Given the description of an element on the screen output the (x, y) to click on. 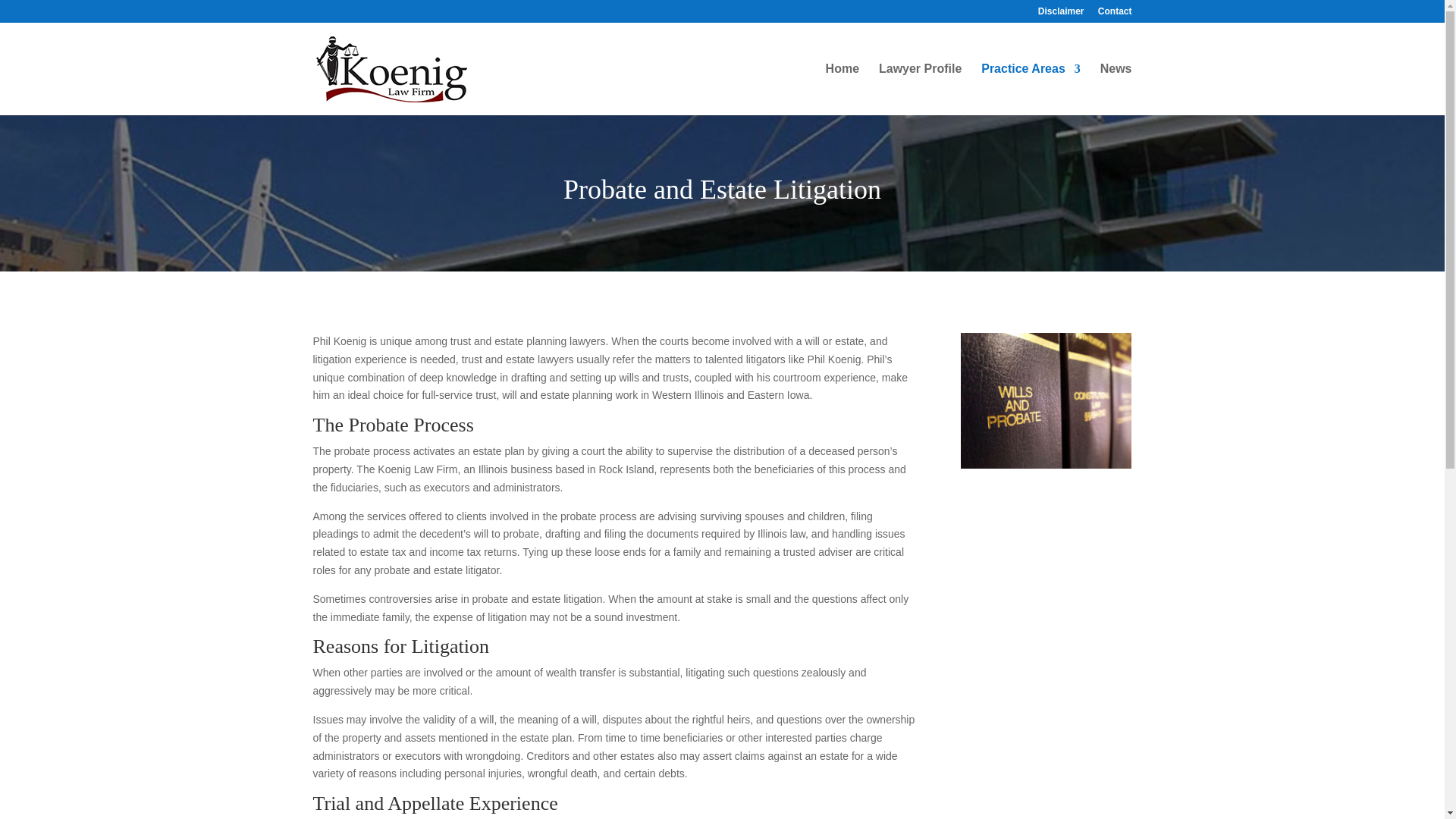
Contact (1114, 14)
Disclaimer (1061, 14)
Lawyer Profile (919, 89)
Practice Areas (1030, 89)
